Given the description of an element on the screen output the (x, y) to click on. 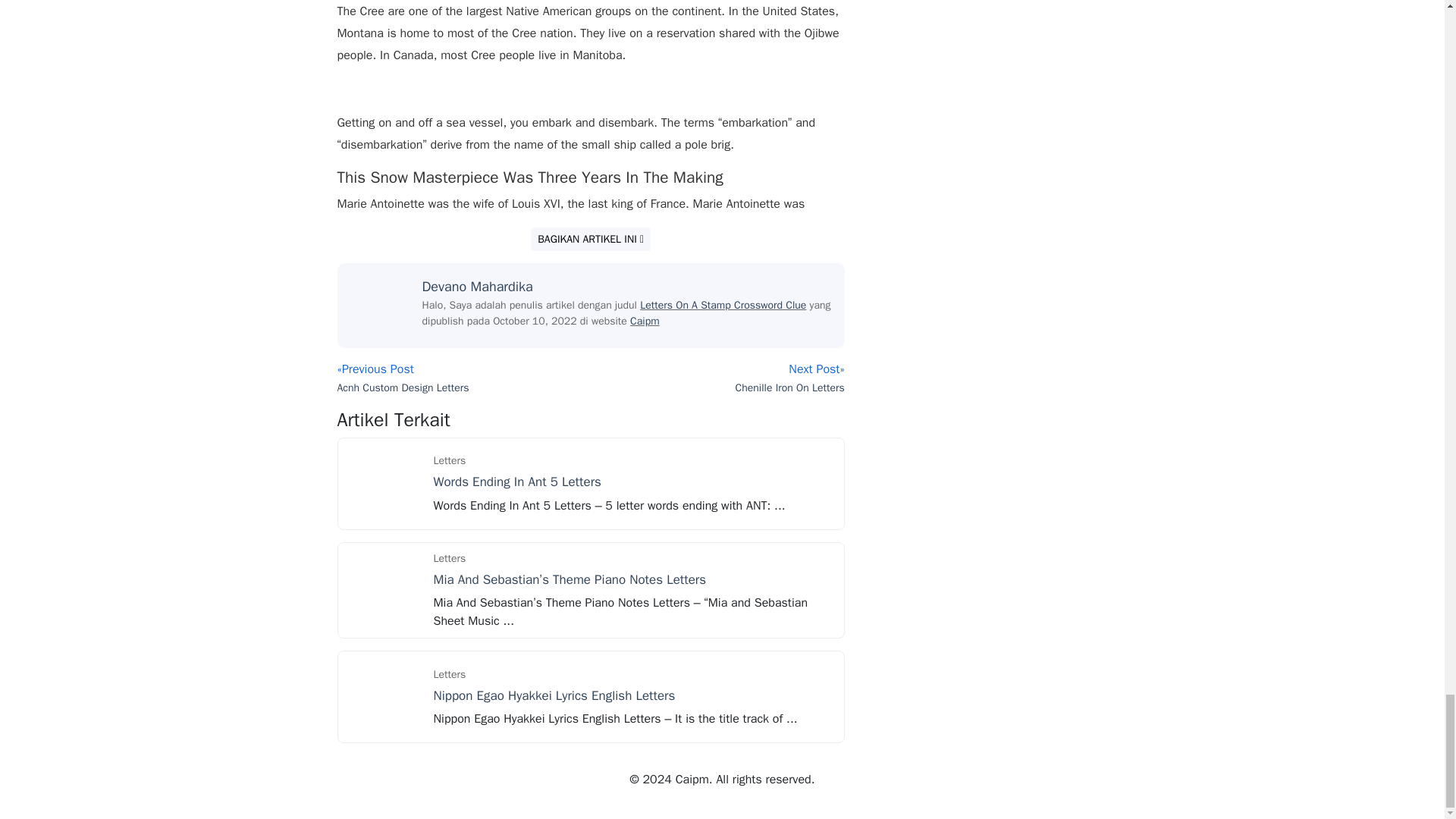
Words Ending In Ant 5 Letters (384, 482)
Letters On A Stamp Crossword Clue (723, 305)
Devano Mahardika (477, 286)
Caipm (644, 320)
Letters (449, 558)
BAGIKAN ARTIKEL INI (590, 238)
Letters (449, 460)
Caipm (644, 320)
Nippon Egao Hyakkei Lyrics English Letters (384, 695)
Letters On A Stamp Crossword Clue (723, 305)
Nippon Egao Hyakkei Lyrics English Letters (554, 695)
Words Ending In Ant 5 Letters (517, 481)
Letters (449, 674)
